Given the description of an element on the screen output the (x, y) to click on. 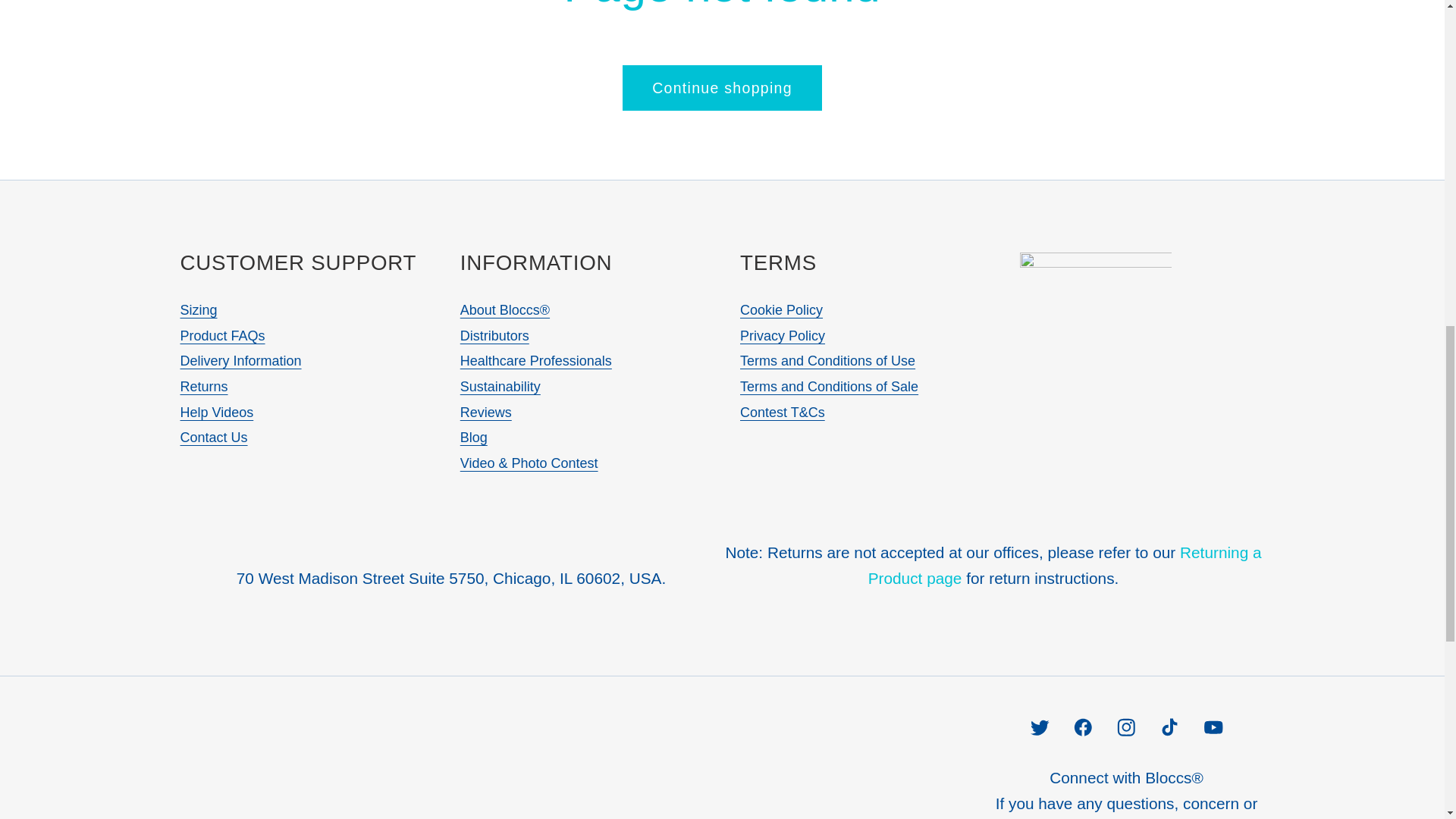
RETURNING A PRODUCT (1064, 565)
